Given the description of an element on the screen output the (x, y) to click on. 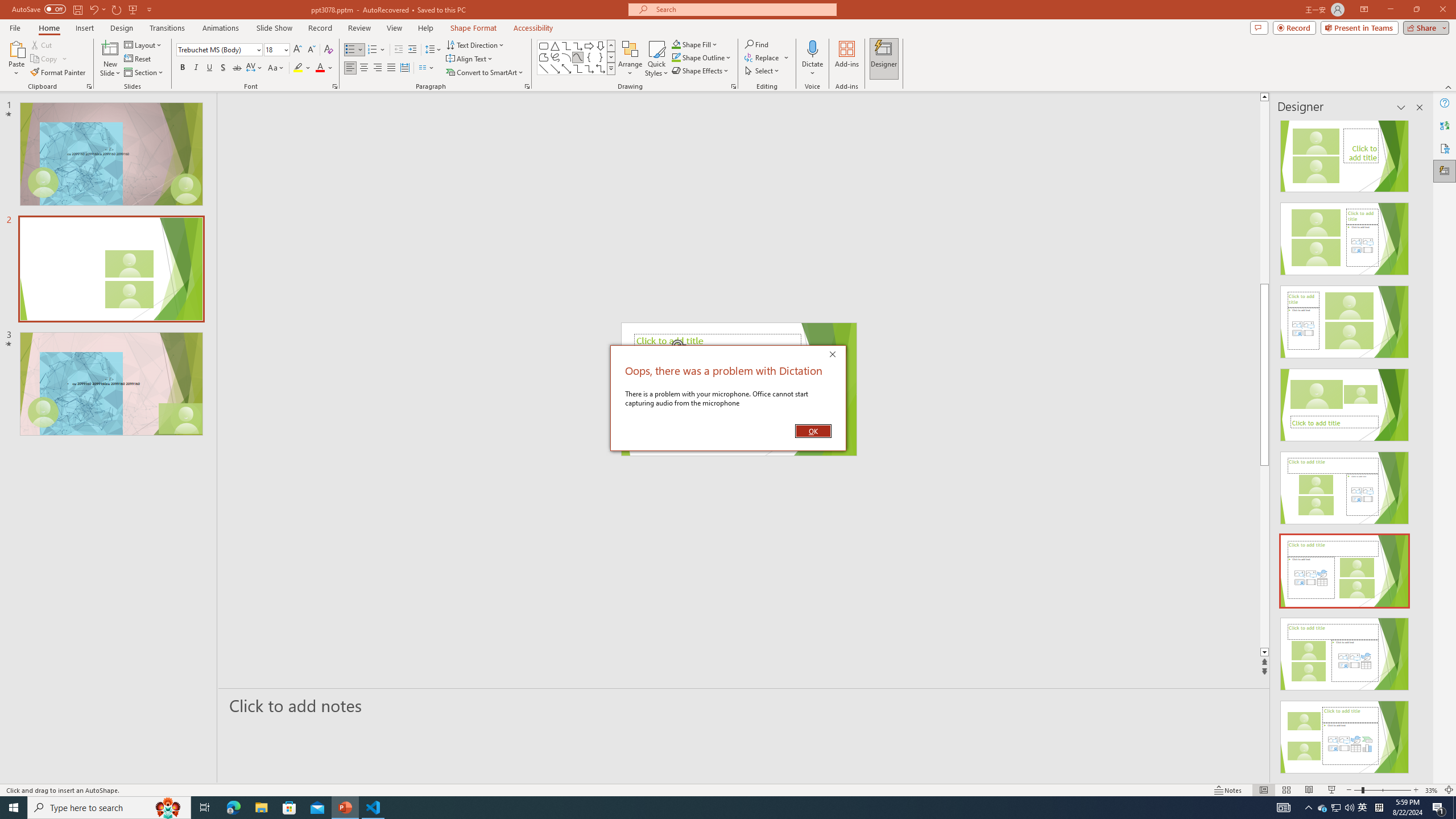
Class: NetUIScrollBar (1418, 447)
Connector: Elbow Double-Arrow (600, 68)
